Given the description of an element on the screen output the (x, y) to click on. 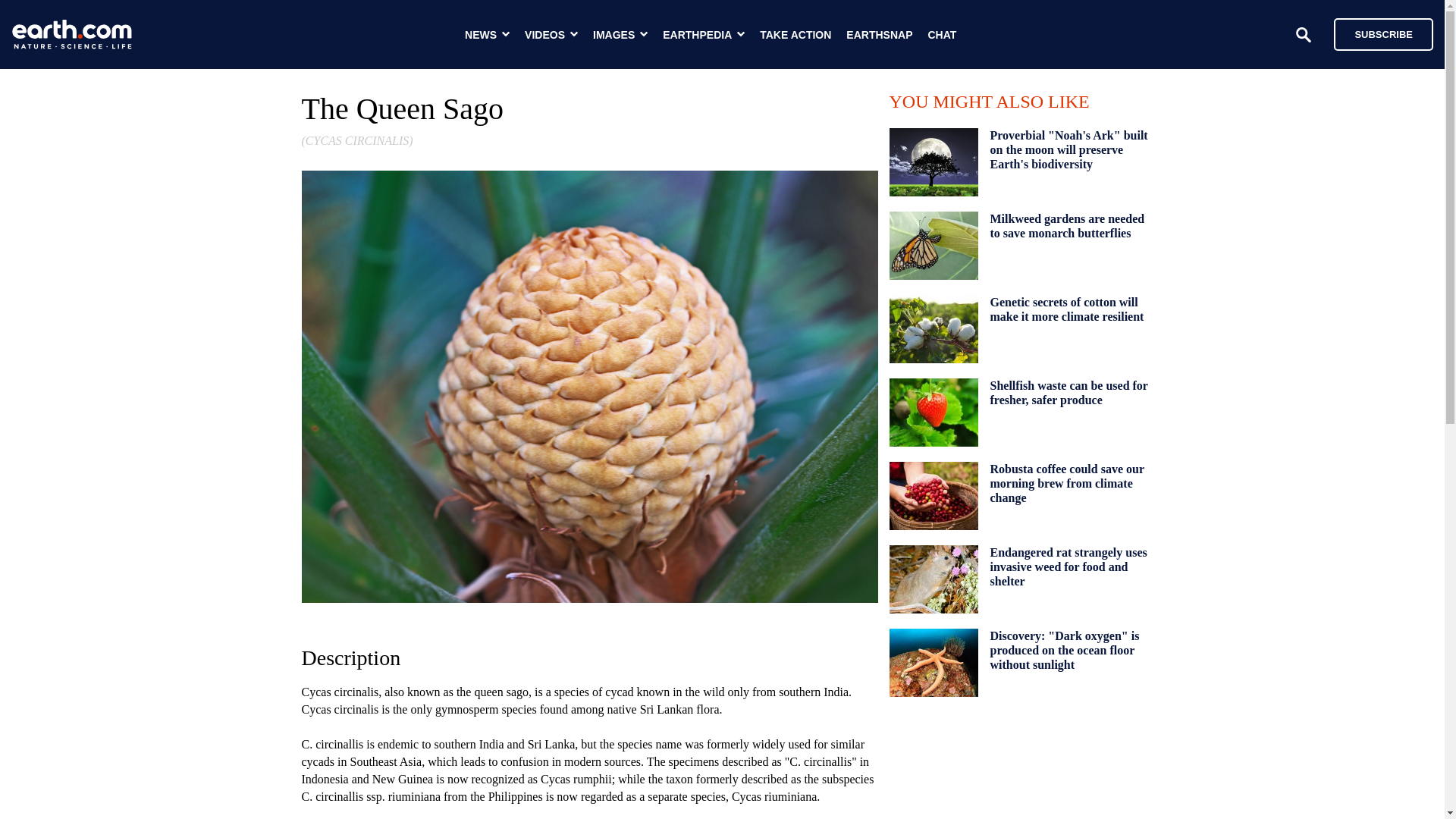
SUBSCRIBE (1382, 34)
SUBSCRIBE (1375, 33)
EARTHSNAP (878, 34)
Milkweed gardens are needed to save monarch butterflies (1067, 225)
Shellfish waste can be used for fresher, safer produce (1069, 392)
TAKE ACTION (795, 34)
CHAT (941, 34)
